Given the description of an element on the screen output the (x, y) to click on. 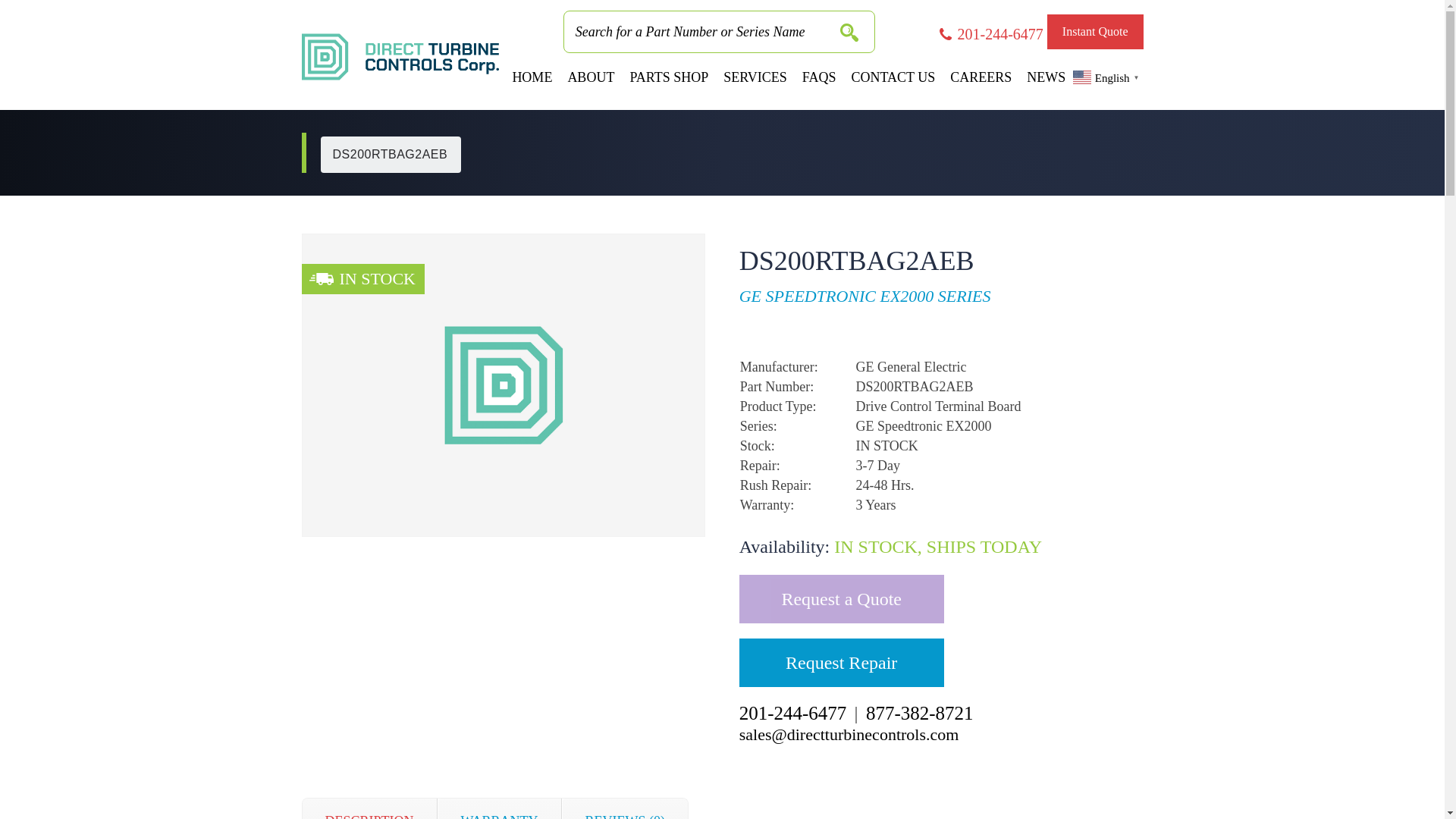
Submit (847, 36)
FAQS (819, 77)
Instant Quote (1094, 31)
NEWS (1046, 77)
HOME (531, 77)
Home (531, 77)
Parts Shop (668, 77)
ABOUT (590, 77)
CAREERS (980, 77)
